Given the description of an element on the screen output the (x, y) to click on. 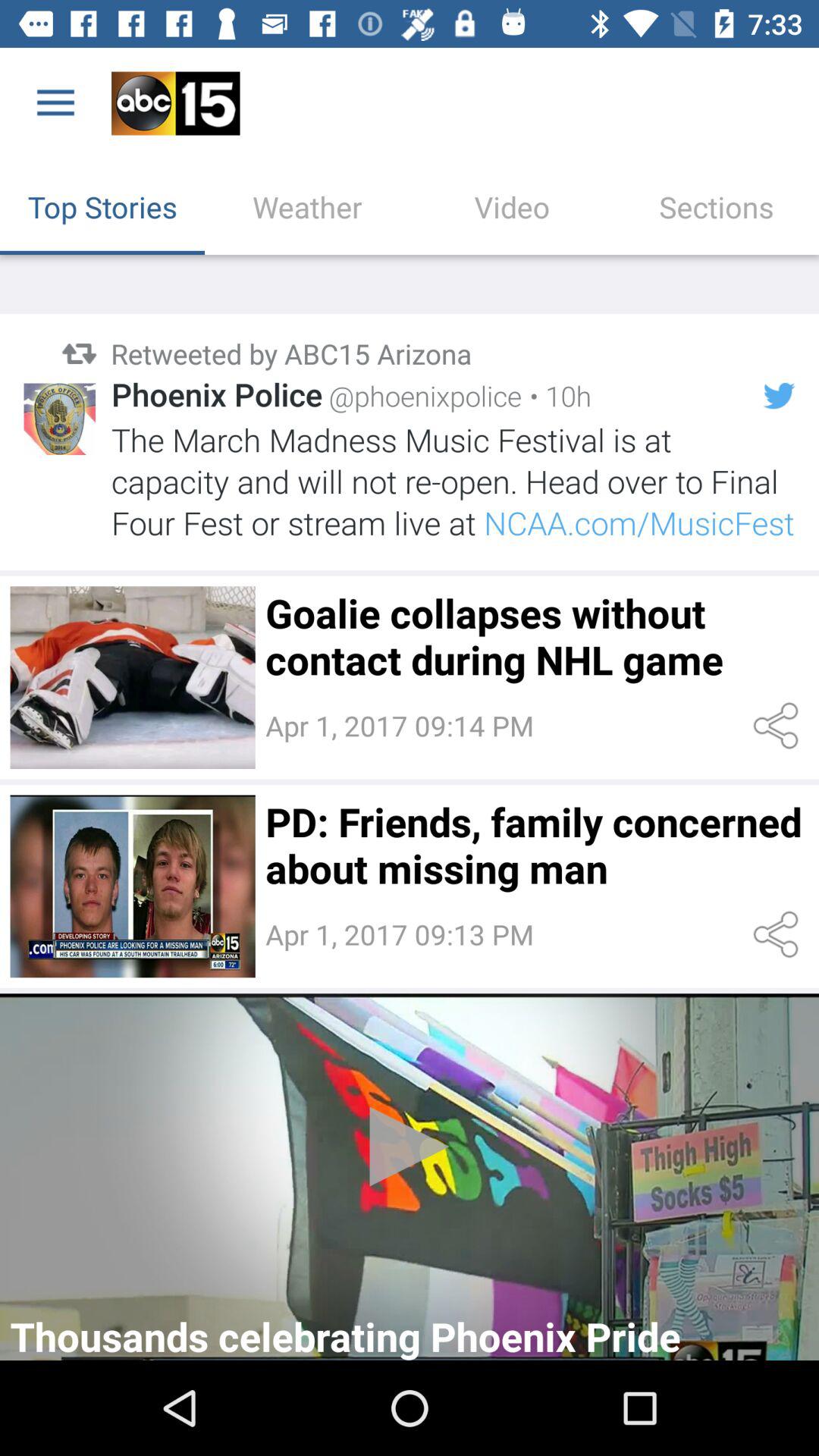
share the article (778, 934)
